Given the description of an element on the screen output the (x, y) to click on. 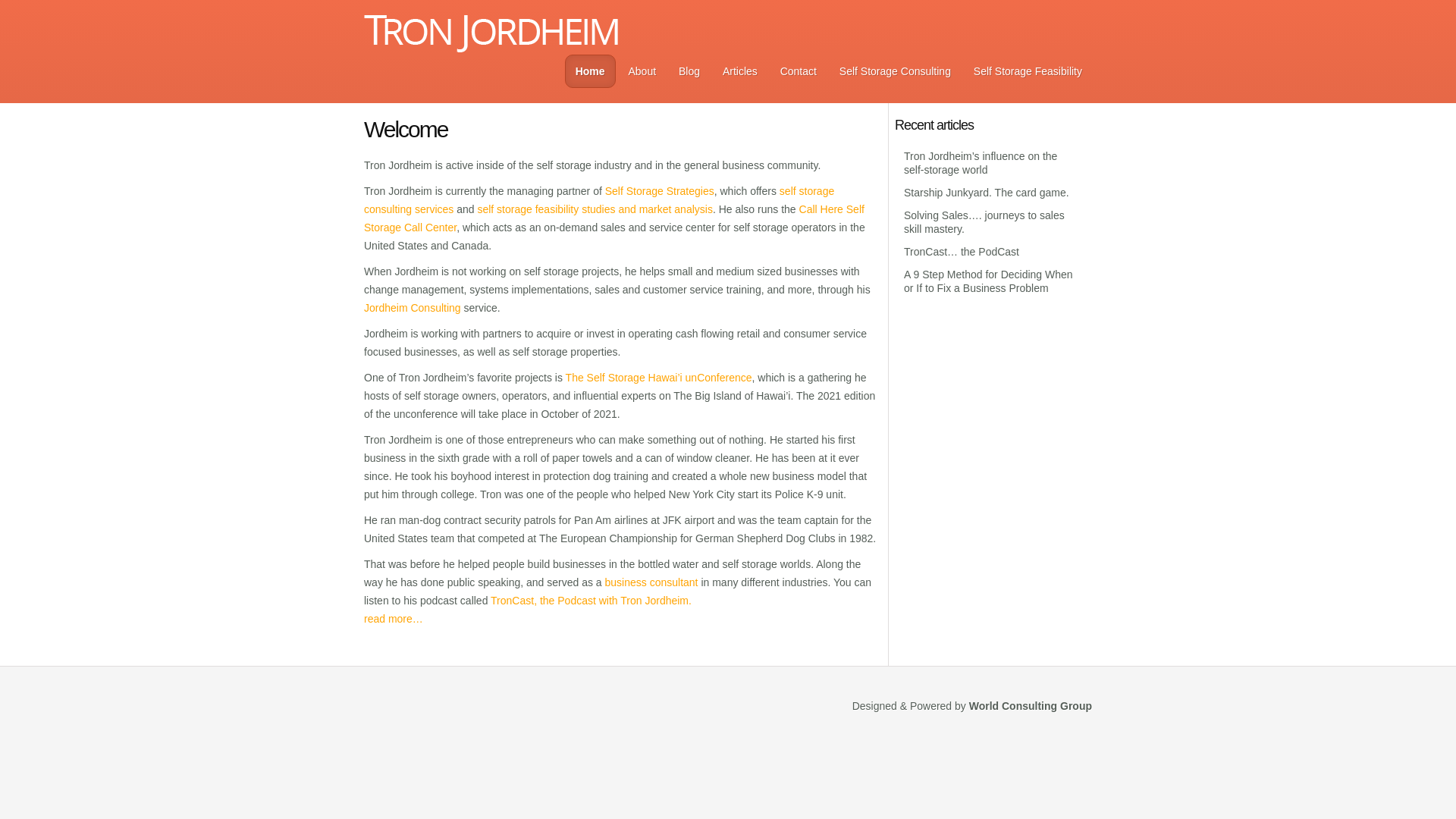
World Consulting Group (1030, 705)
Contact (798, 70)
Self Storage Consulting (894, 70)
Call Here Self Storage Call Center (614, 218)
Self Storage Strategies (659, 191)
Articles (740, 70)
Self Storage Feasibility (1027, 70)
self storage feasibility studies and market analysis (594, 209)
World Consulting Group (1030, 705)
